Given the description of an element on the screen output the (x, y) to click on. 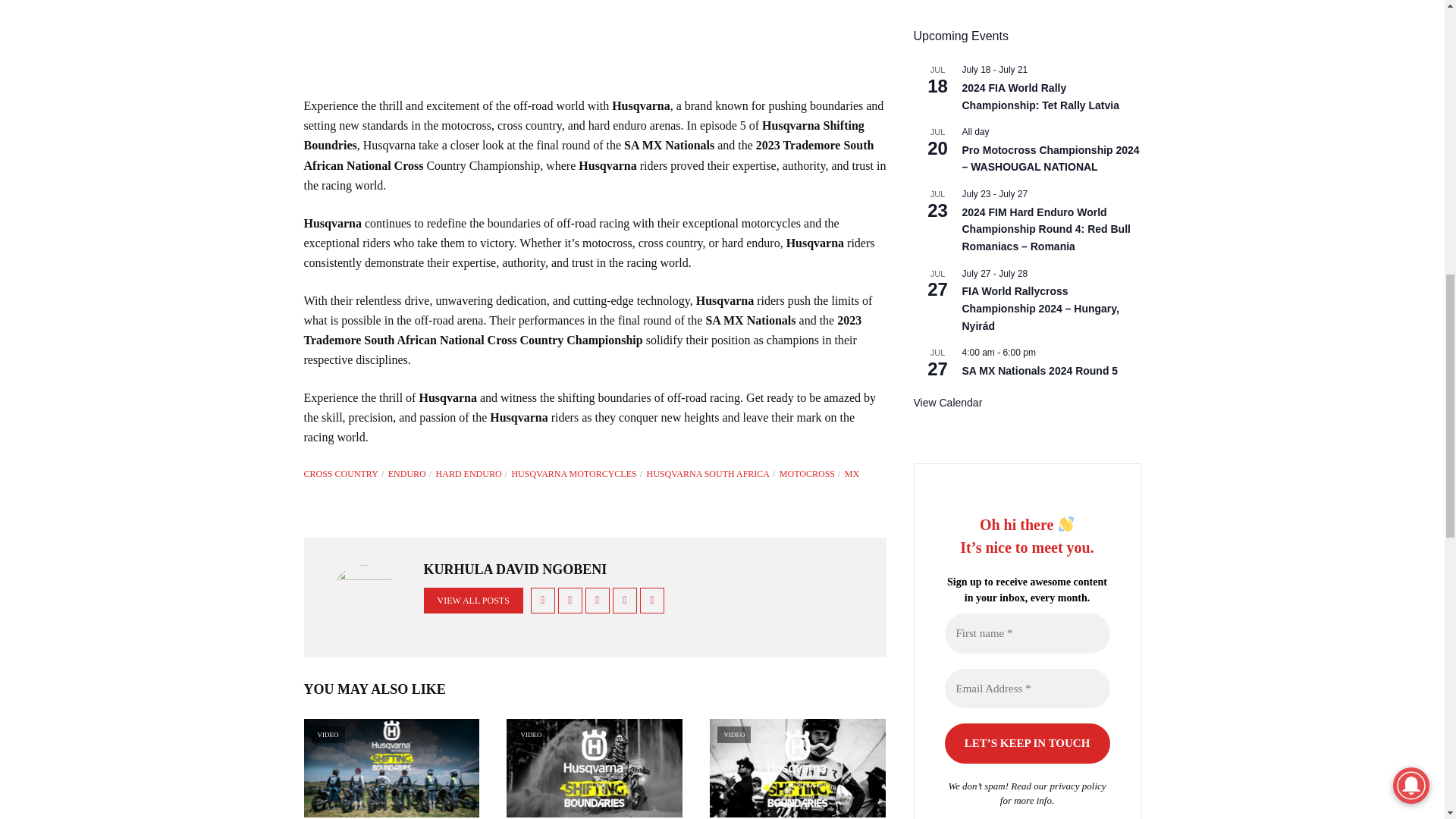
SA MX Nationals 2024 Round 5 (1039, 370)
2024 FIA World Rally Championship: Tet Rally Latvia (1039, 96)
View more events. (946, 402)
Advertisement (593, 34)
